Given the description of an element on the screen output the (x, y) to click on. 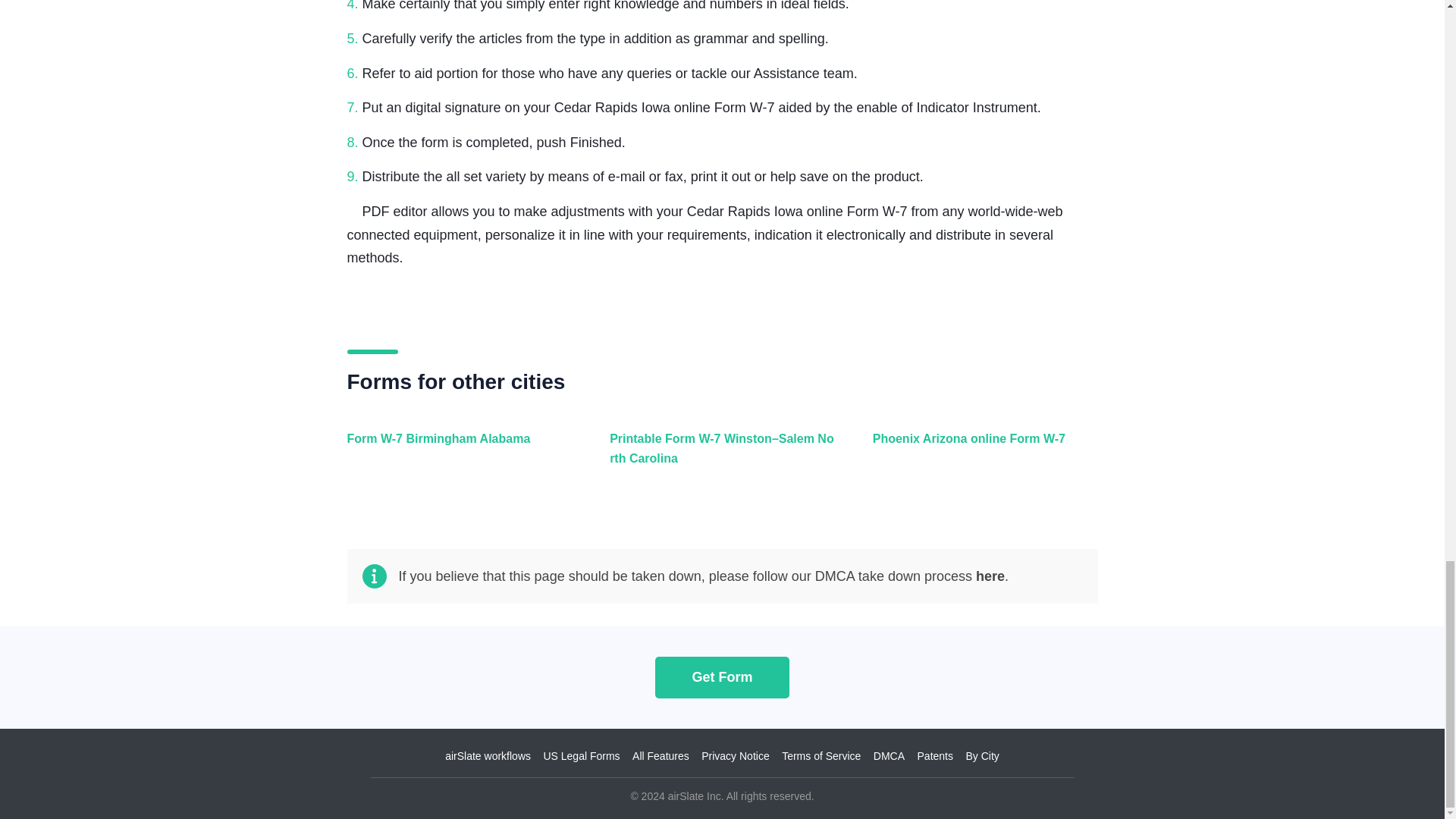
Get Form (722, 676)
US Legal Forms (581, 756)
Terms of Service (820, 756)
Patents (935, 756)
Form W-7 Birmingham Alabama (456, 456)
Phoenix Arizona online Form W-7 (981, 456)
airSlate workflows (488, 756)
here (989, 575)
All Features (659, 756)
DMCA (888, 756)
